Given the description of an element on the screen output the (x, y) to click on. 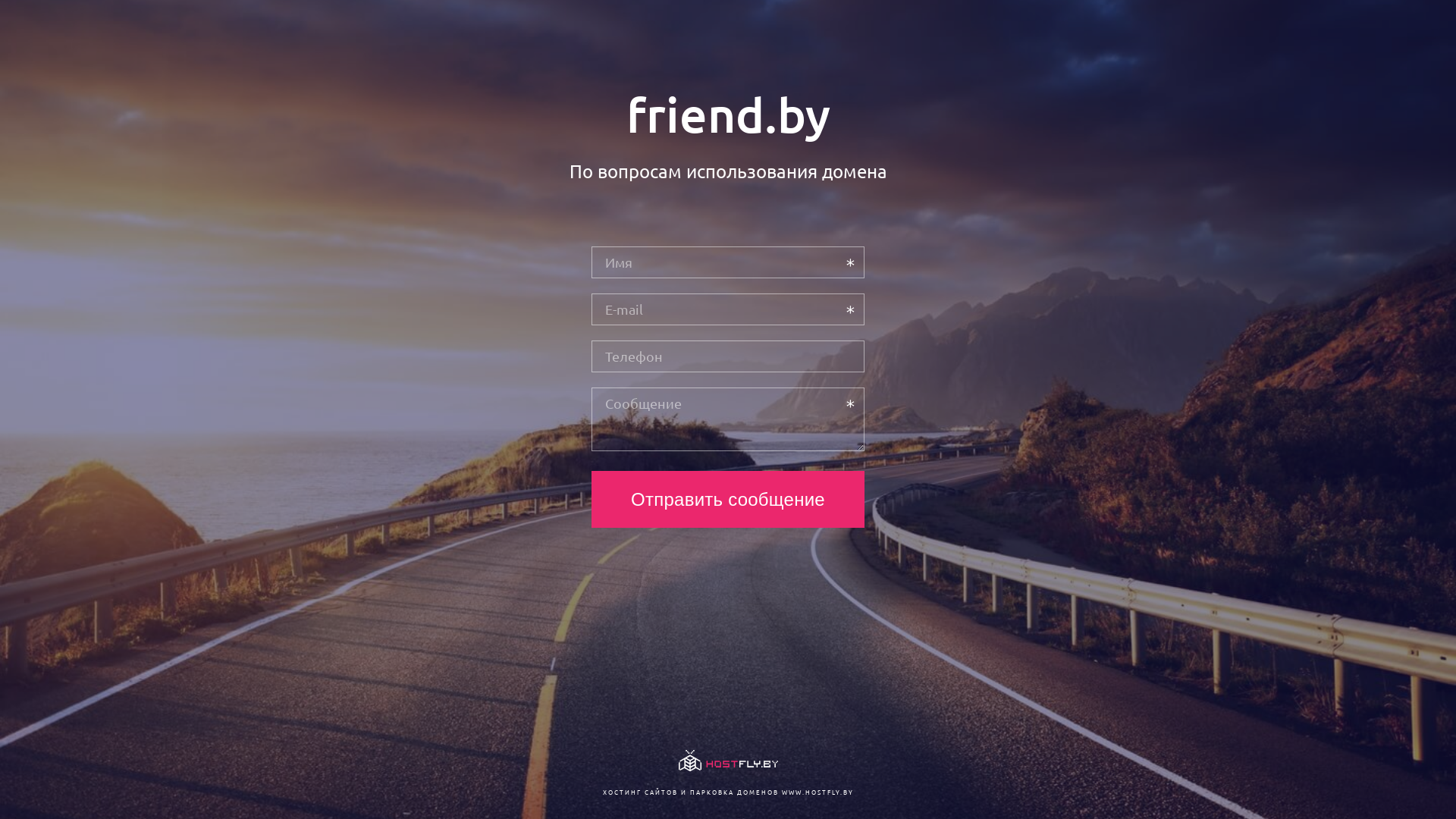
WWW.HOSTFLY.BY Element type: text (817, 791)
